Given the description of an element on the screen output the (x, y) to click on. 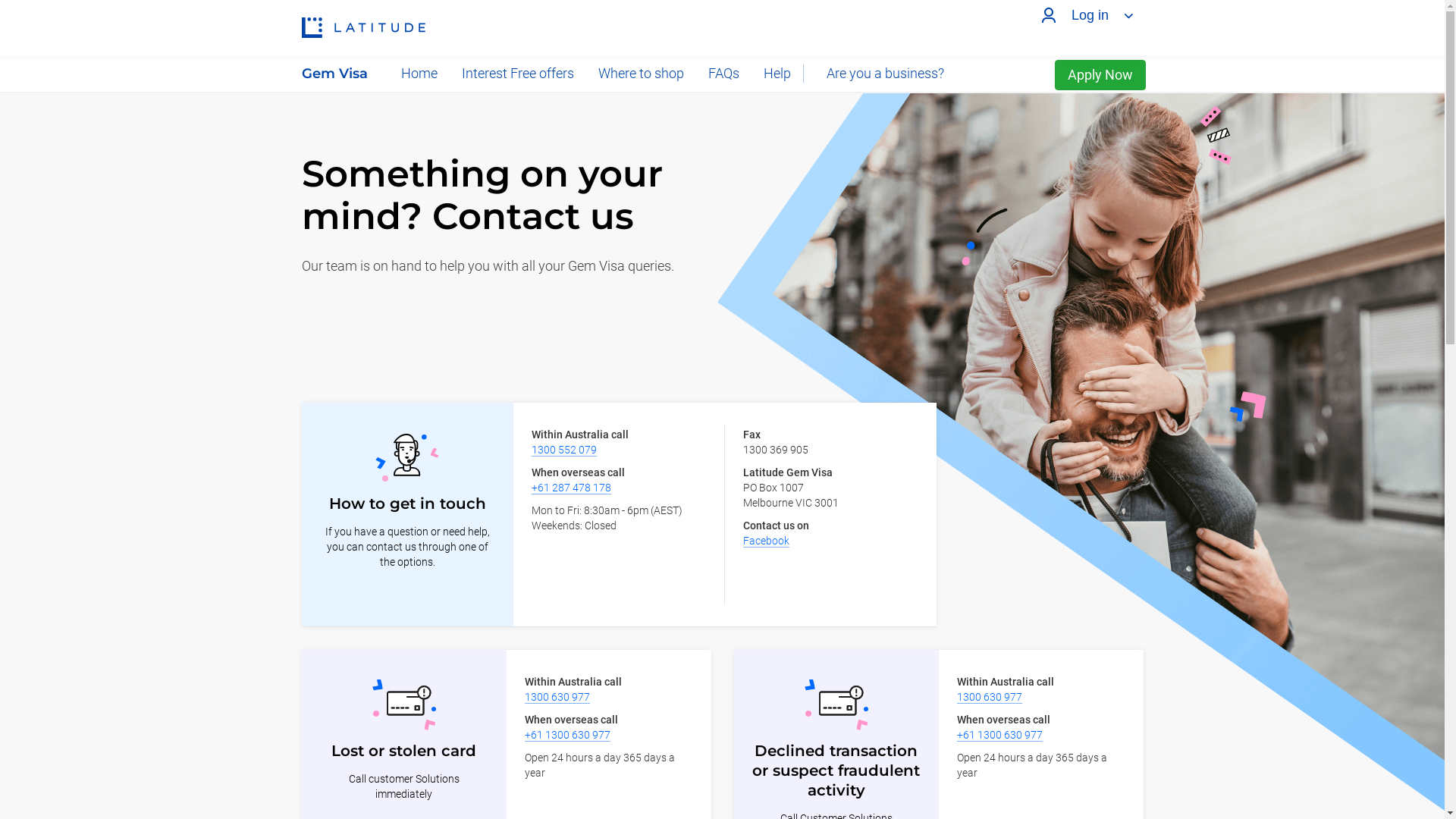
1300 630 977 Element type: text (556, 696)
1300 552 079 Element type: text (563, 449)
Log in Element type: text (1083, 15)
1300 630 977 Element type: text (989, 696)
FAQs Element type: text (723, 73)
Apply Now Element type: text (1099, 74)
+61 1300 630 977 Element type: text (567, 734)
Interest Free offers Element type: text (516, 73)
Are you a business? Element type: text (879, 73)
Where to shop Element type: text (640, 73)
Home Element type: text (418, 73)
+61 287 478 178 Element type: text (570, 487)
+61 1300 630 977 Element type: text (999, 734)
Help Element type: text (776, 73)
Gem Visa Element type: text (338, 73)
Facebook Element type: text (766, 540)
